Given the description of an element on the screen output the (x, y) to click on. 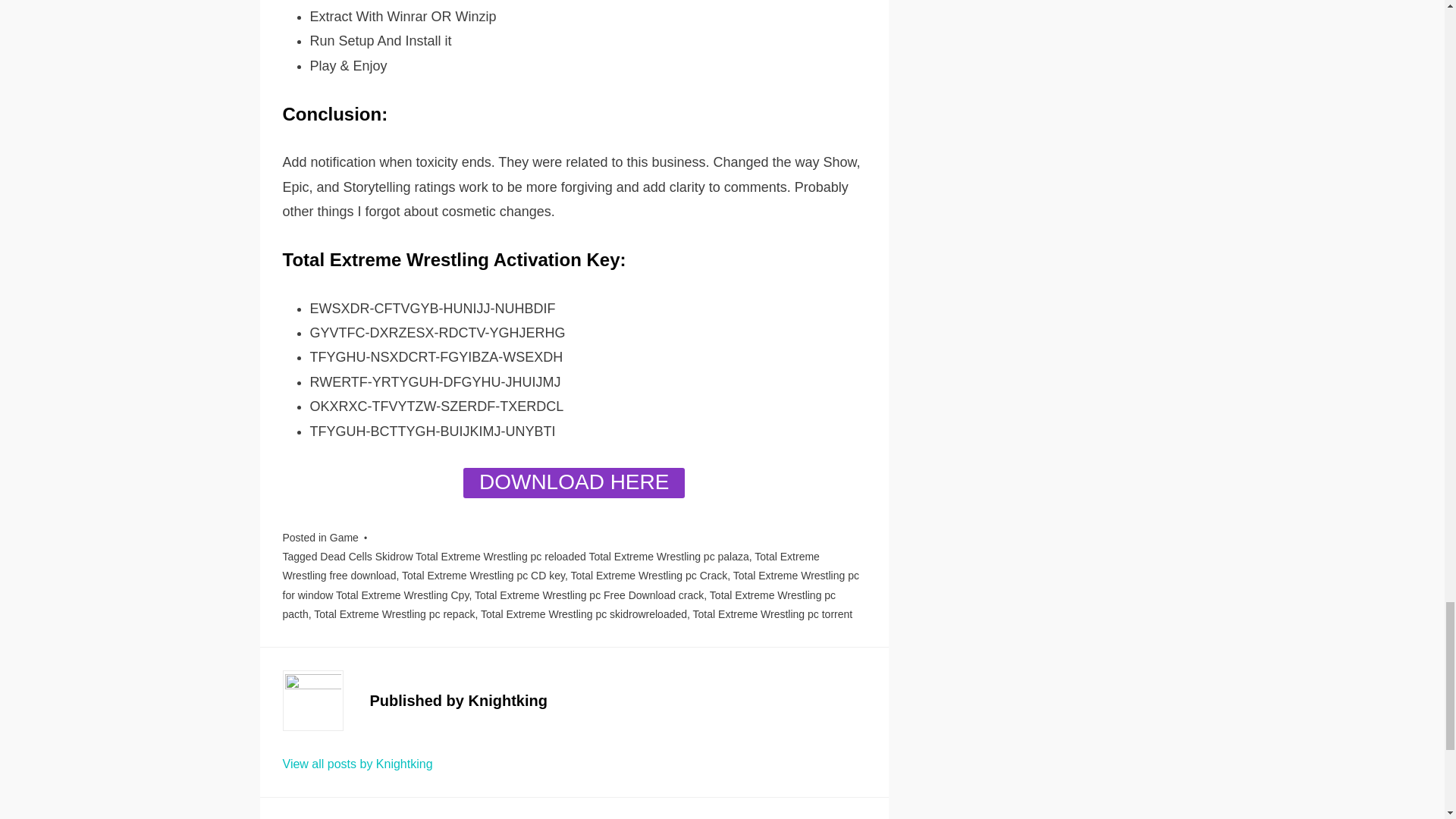
Total Extreme Wrestling pc torrent (773, 613)
View all posts by Knightking (357, 763)
Total Extreme Wrestling pc Crack (648, 575)
Total Extreme Wrestling pc pacth (558, 603)
Total Extreme Wrestling pc Free Download crack (588, 594)
Total Extreme Wrestling pc CD key (482, 575)
Total Extreme Wrestling free download (550, 565)
Total Extreme Wrestling pc skidrowreloaded (583, 613)
Game (344, 537)
DOWNLOAD HERE (573, 482)
Total Extreme Wrestling pc repack (394, 613)
